Given the description of an element on the screen output the (x, y) to click on. 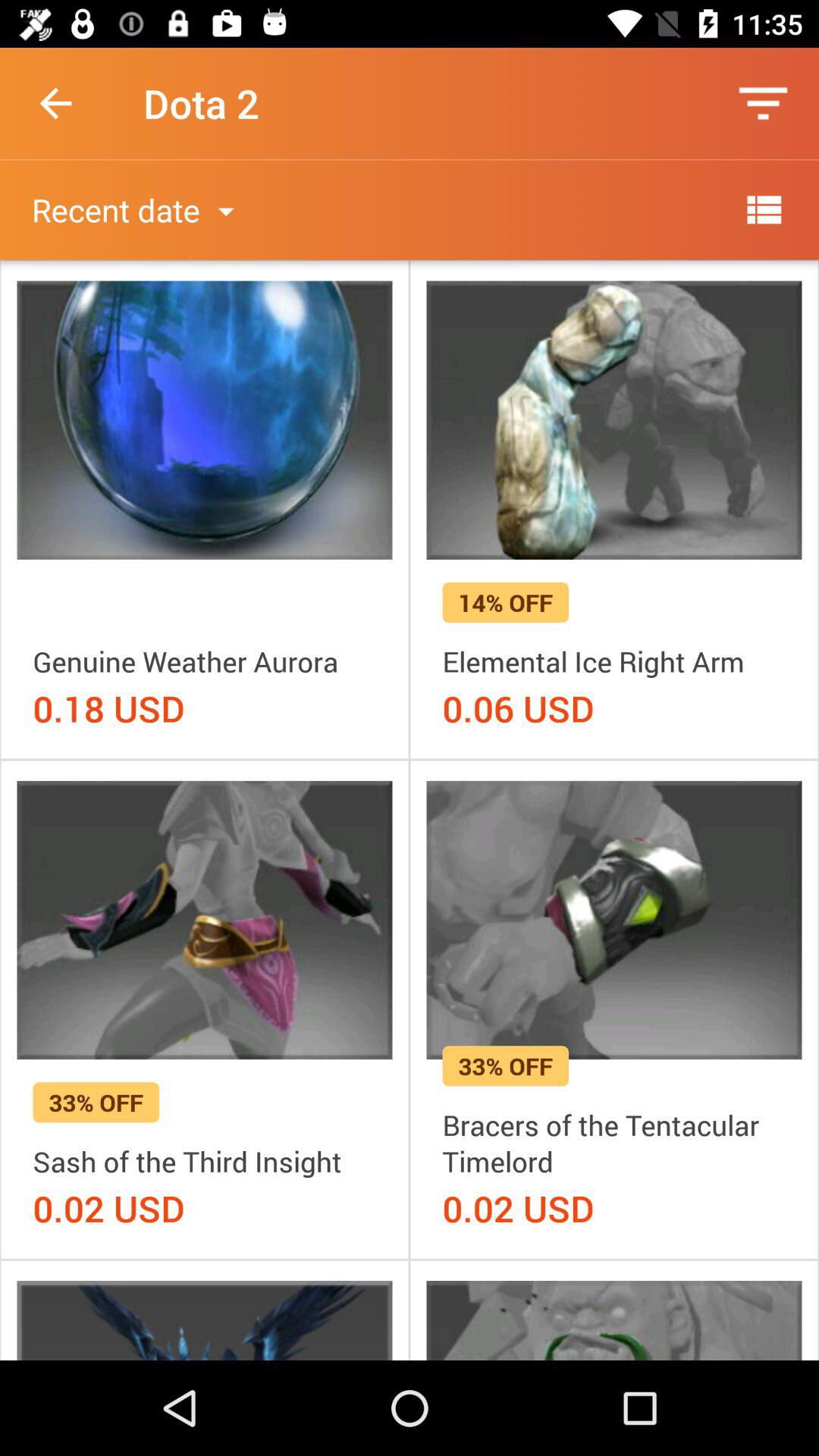
select the icon next to dota 2 icon (55, 103)
